Given the description of an element on the screen output the (x, y) to click on. 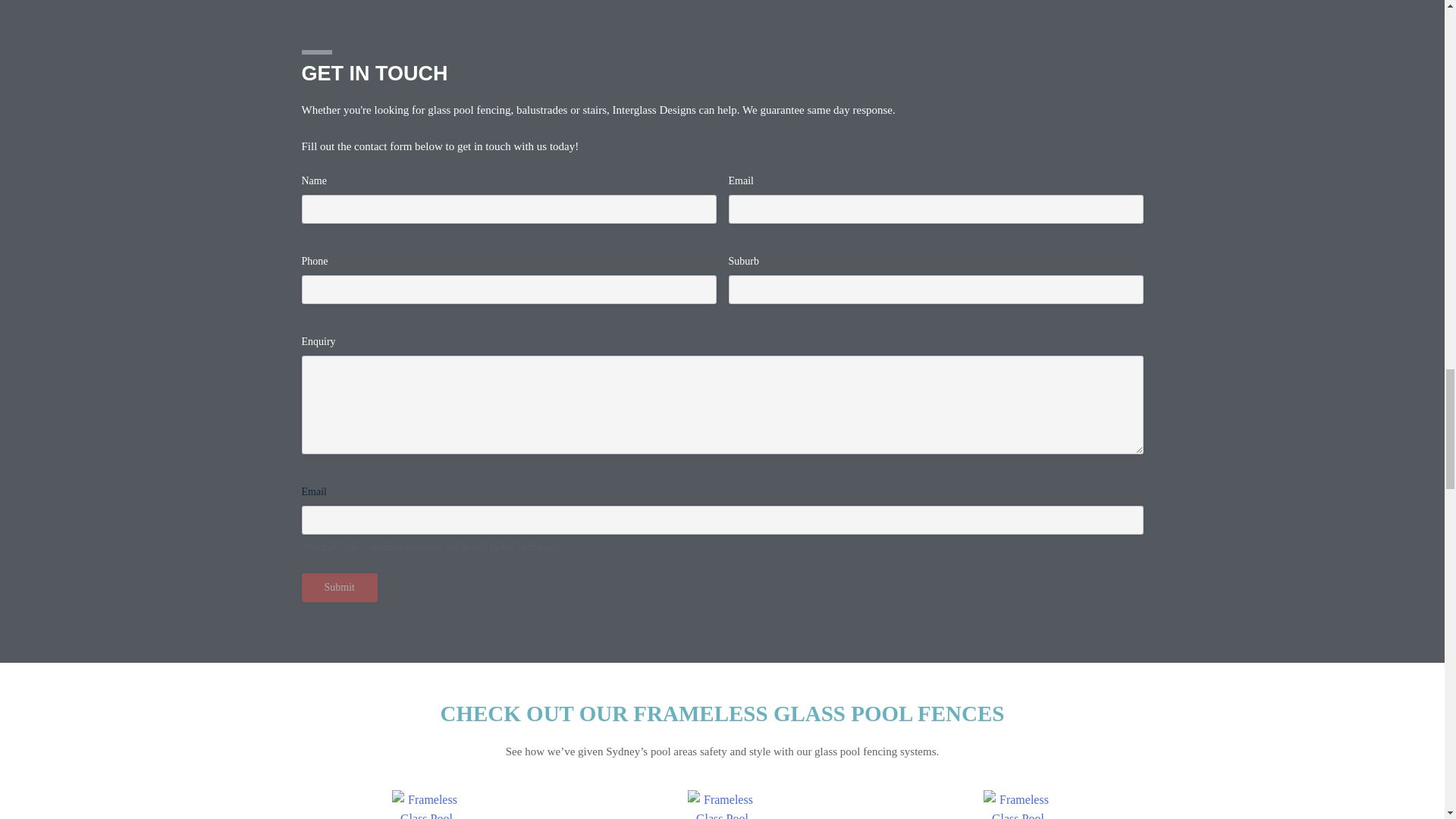
Submit (339, 587)
Submit (339, 587)
Frameless Glass Pool Fencing Sydney (426, 804)
